Given the description of an element on the screen output the (x, y) to click on. 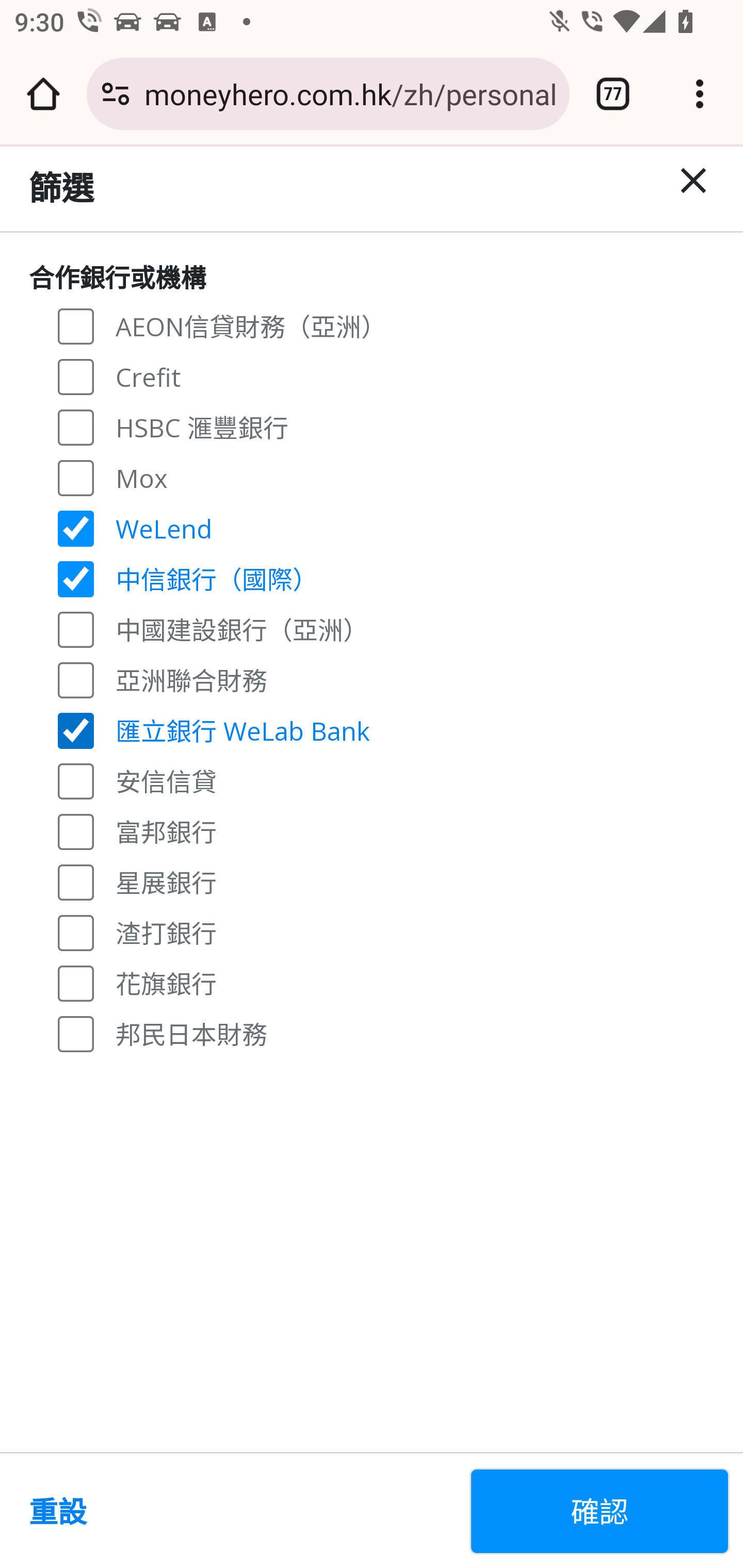
Open the home page (43, 93)
Connection is secure (115, 93)
Switch or close tabs (612, 93)
Customize and control Google Chrome (699, 93)
AEON信貸財務（亞洲） (76, 325)
Crefit (76, 376)
HSBC 滙豐銀行 (76, 426)
Mox (76, 476)
WeLend (76, 528)
中信銀行（國際） (76, 578)
中國建設銀行（亞洲） (76, 628)
亞洲聯合財務 (76, 678)
匯立銀行 WeLab Bank (76, 730)
安信信貸 (76, 780)
富邦銀行 (76, 830)
星展銀行 (76, 881)
渣打銀行 (76, 932)
花旗銀行 (76, 982)
邦民日本財務 (76, 1033)
重設 (241, 1511)
確認 (600, 1511)
